Given the description of an element on the screen output the (x, y) to click on. 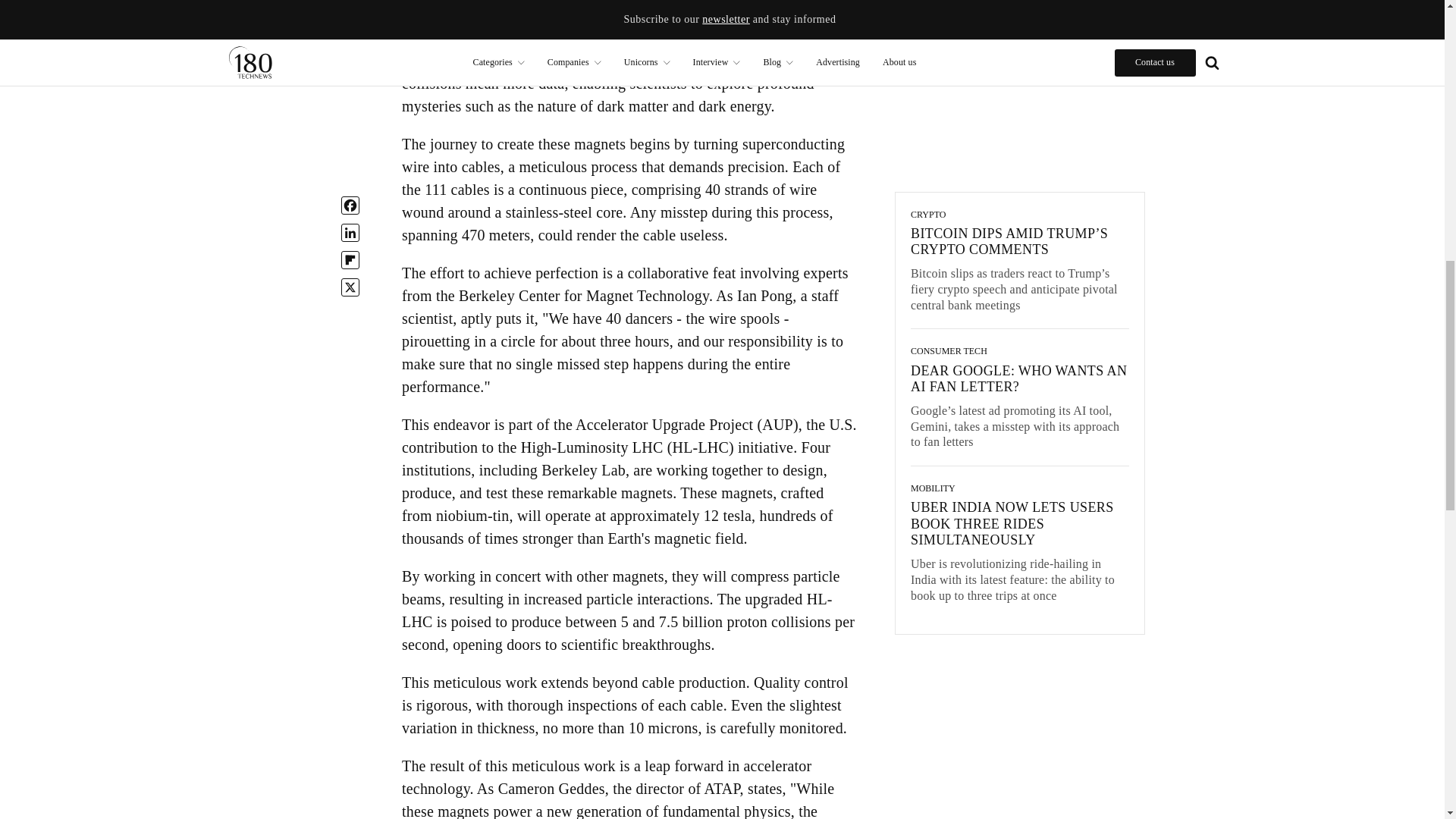
X (349, 1)
